Given the description of an element on the screen output the (x, y) to click on. 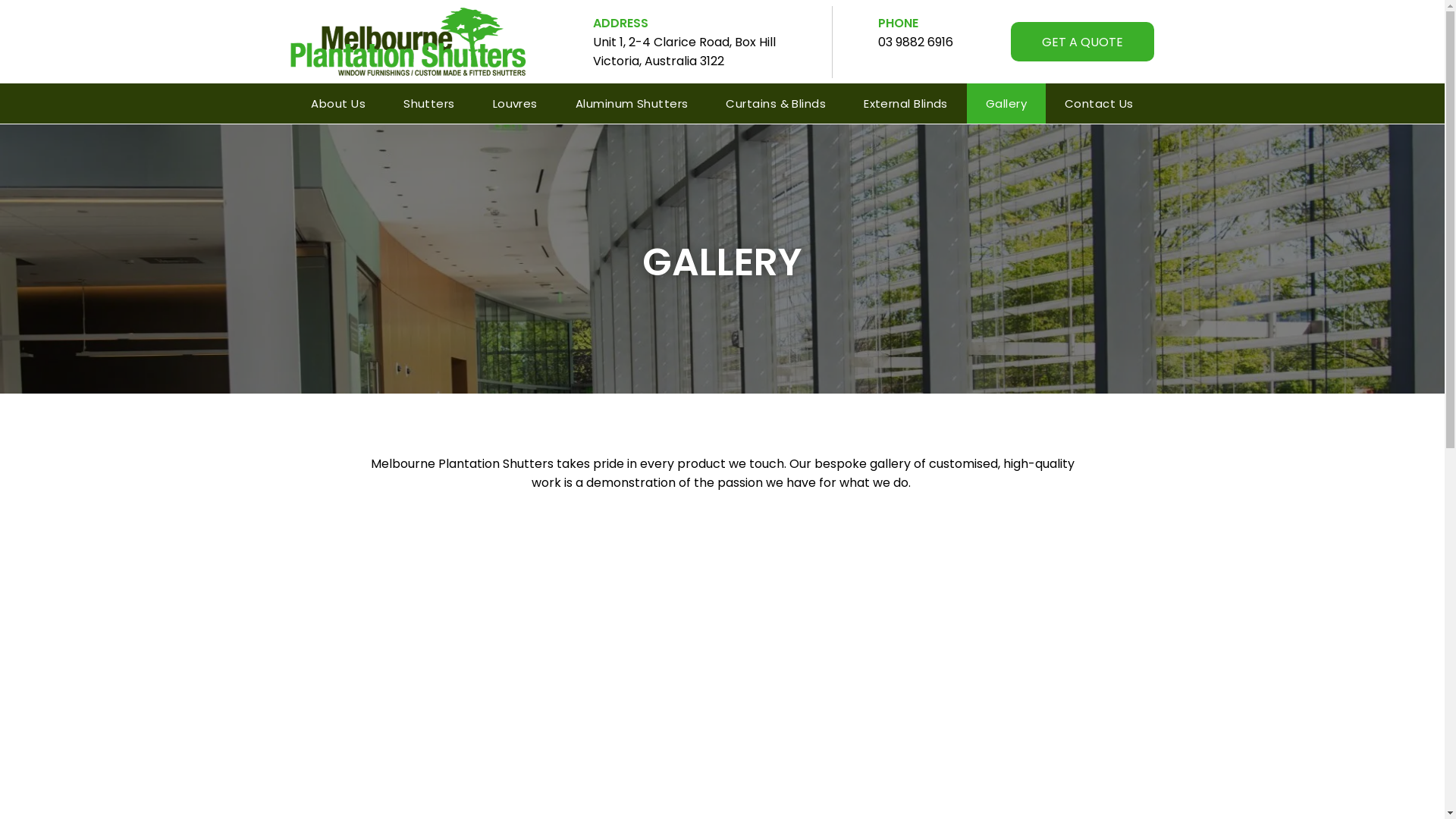
Contact Us Element type: text (1098, 103)
GET A QUOTE Element type: text (1082, 41)
Louvres Element type: text (514, 103)
About Us Element type: text (337, 103)
Gallery Element type: text (1005, 103)
Shutters Element type: text (428, 103)
Aluminum Shutters Element type: text (631, 103)
External Blinds Element type: text (905, 103)
Curtains & Blinds Element type: text (775, 103)
03 9882 6916 Element type: text (915, 41)
